Given the description of an element on the screen output the (x, y) to click on. 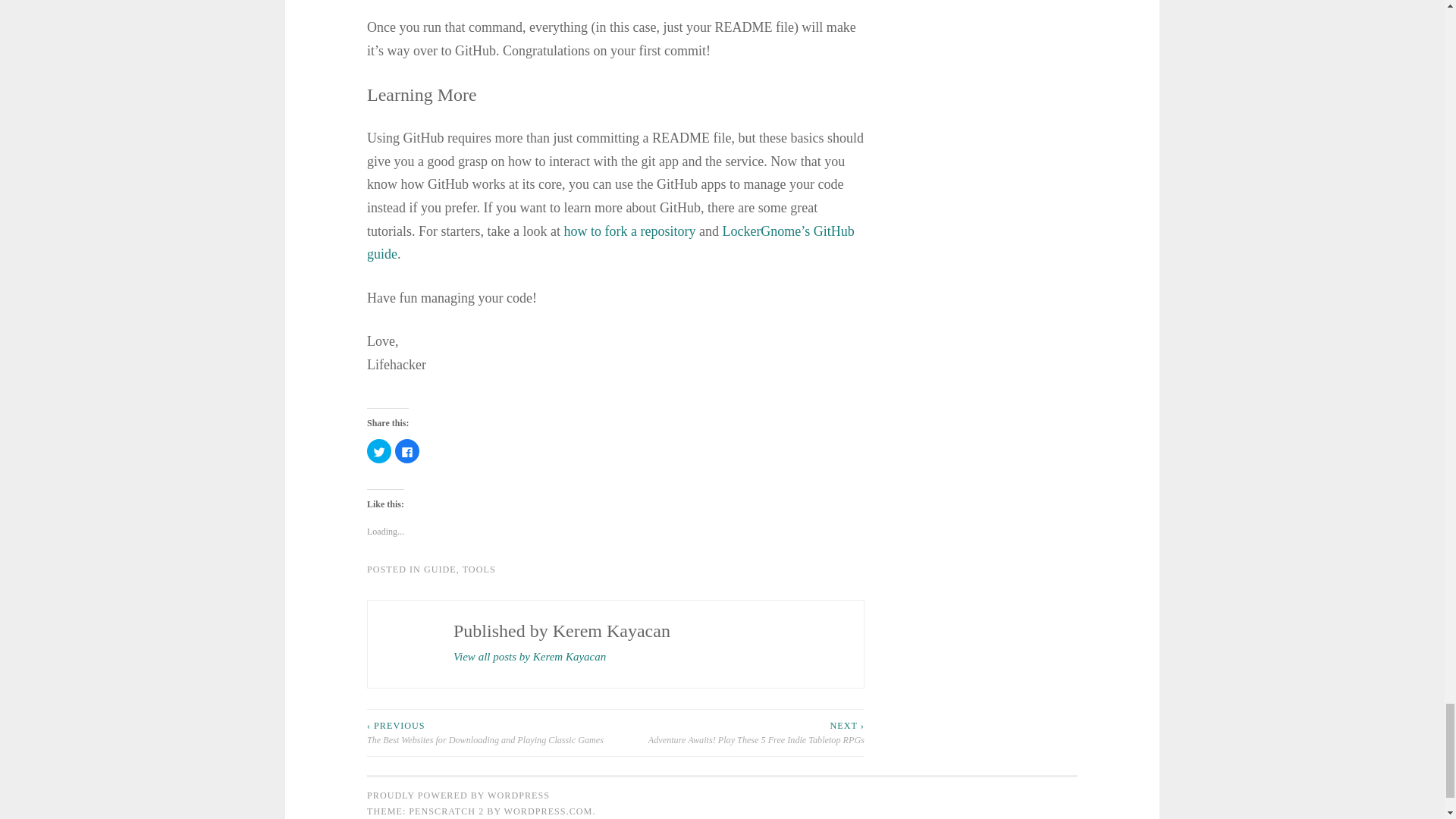
GUIDE (440, 569)
how to fork a repository (629, 231)
Click to share on Twitter (378, 450)
Click to share on Facebook (406, 450)
TOOLS (479, 569)
View all posts by Kerem Kayacan (528, 657)
